Given the description of an element on the screen output the (x, y) to click on. 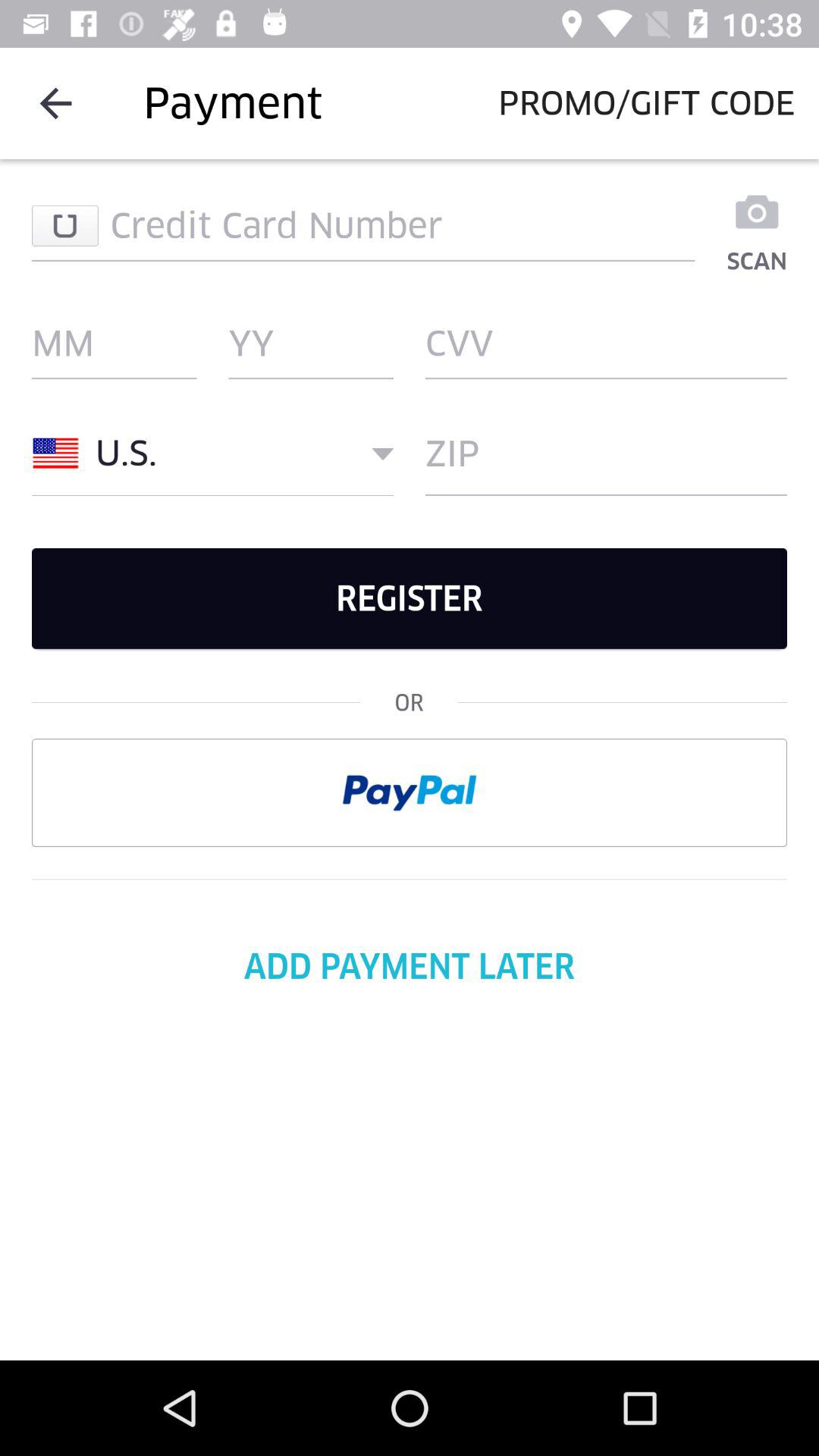
year (310, 343)
